Given the description of an element on the screen output the (x, y) to click on. 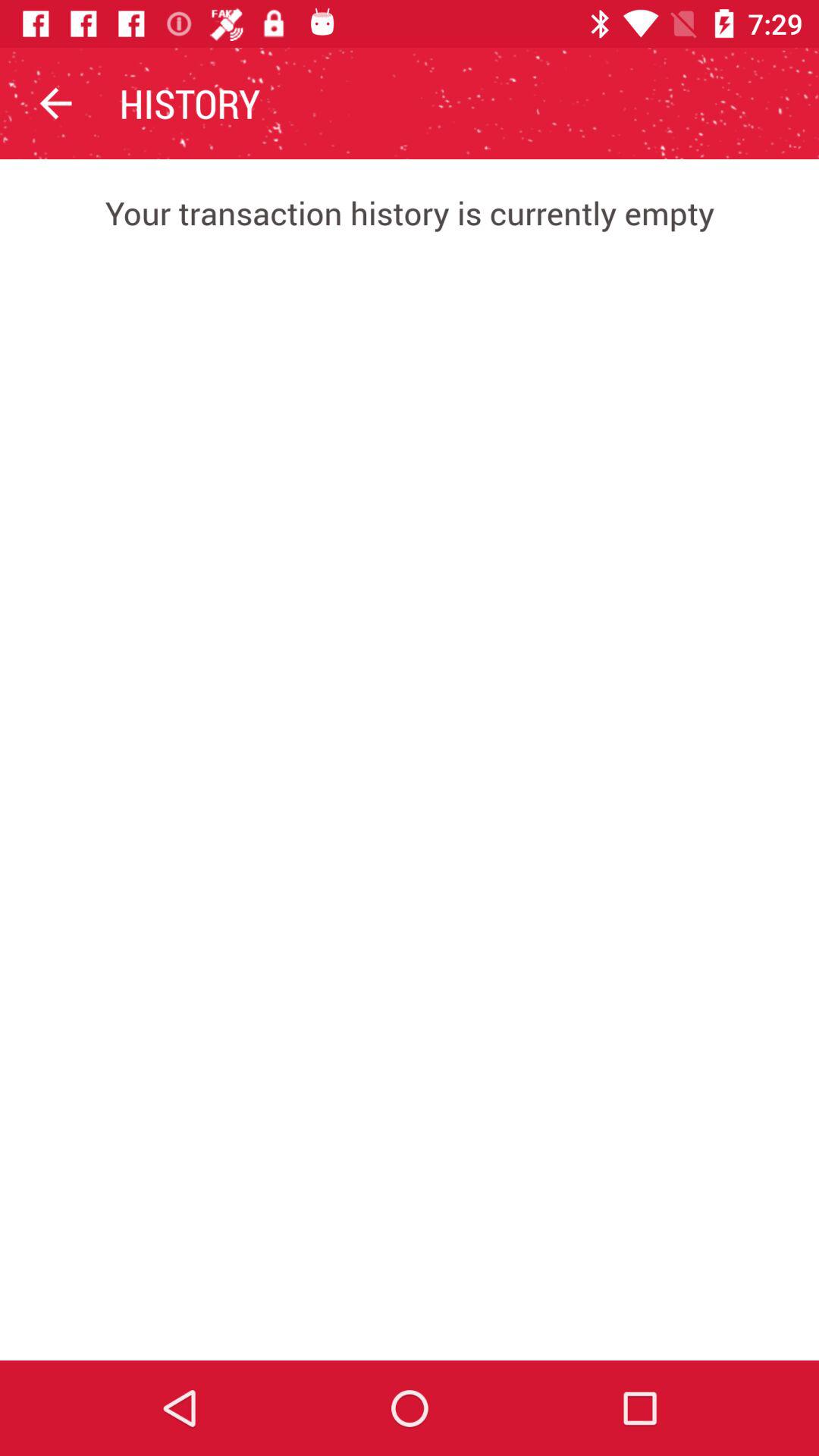
turn on the app to the left of history (55, 103)
